Given the description of an element on the screen output the (x, y) to click on. 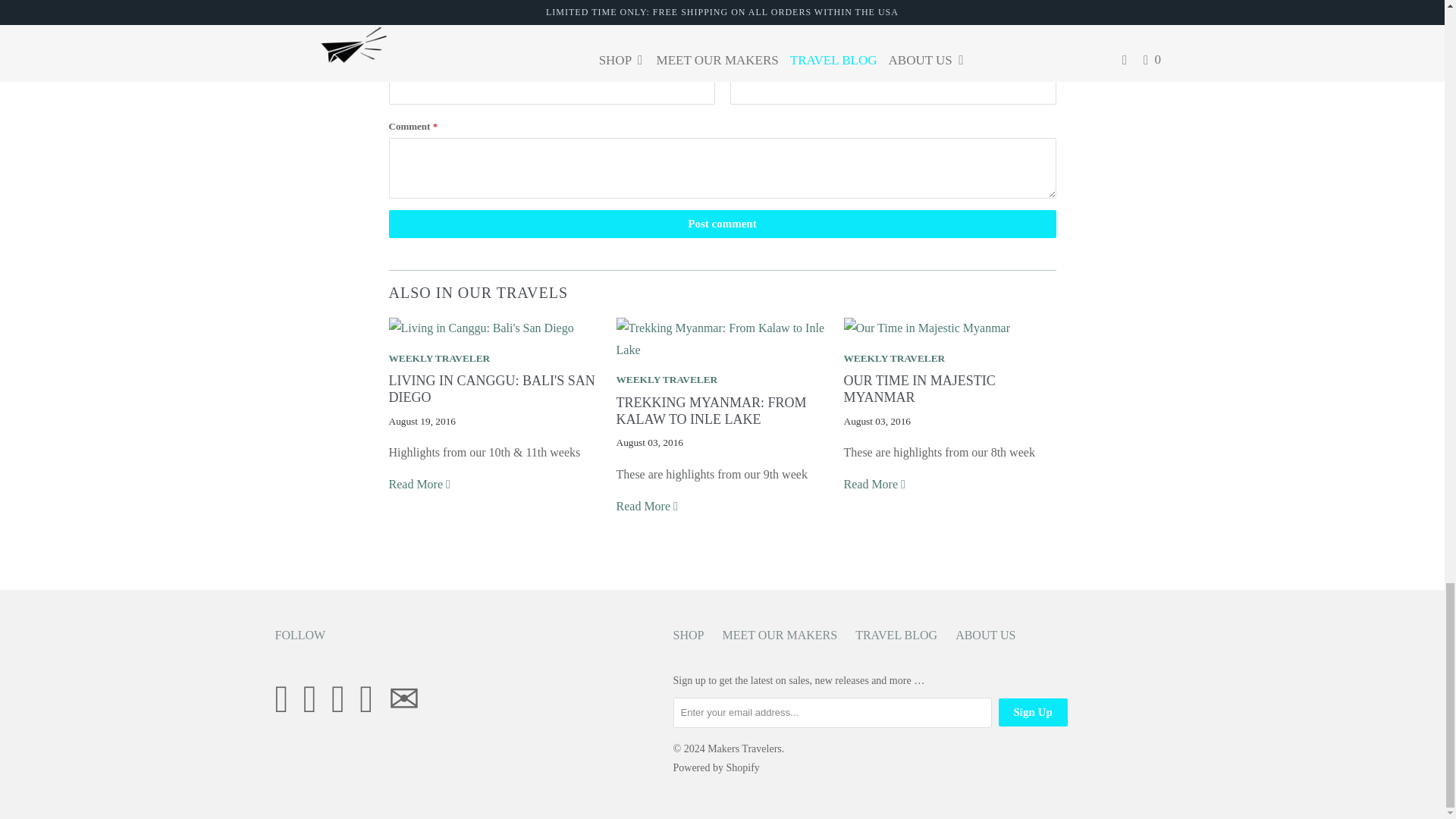
Our Travels tagged WEEKLY TRAVELER (438, 357)
Our Travels tagged WEEKLY TRAVELER (893, 357)
Post comment (721, 223)
Trekking Myanmar: From Kalaw to Inle Lake (710, 410)
Sign Up (1032, 712)
Our Travels tagged WEEKLY TRAVELER (666, 378)
Our Time in Majestic Myanmar (926, 327)
Our Time in Majestic Myanmar (875, 483)
Trekking Myanmar: From Kalaw to Inle Lake (721, 349)
Living in Canggu: Bali's San Diego (491, 388)
